Given the description of an element on the screen output the (x, y) to click on. 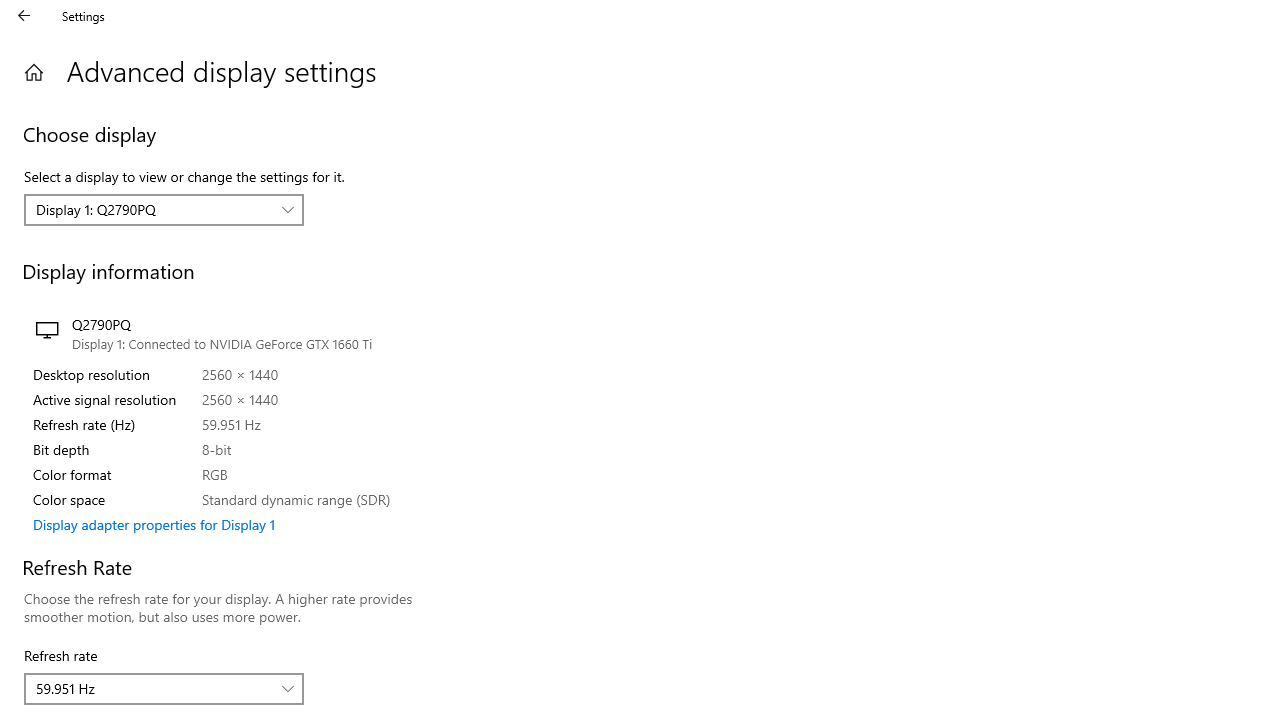
Refresh rate (164, 688)
Back (24, 15)
Display 1: Q2790PQ (153, 209)
Home (33, 71)
59.951 Hz (153, 687)
Select a display to view or change the settings for it. (164, 209)
Display adapter properties for Display 1 (154, 524)
